Given the description of an element on the screen output the (x, y) to click on. 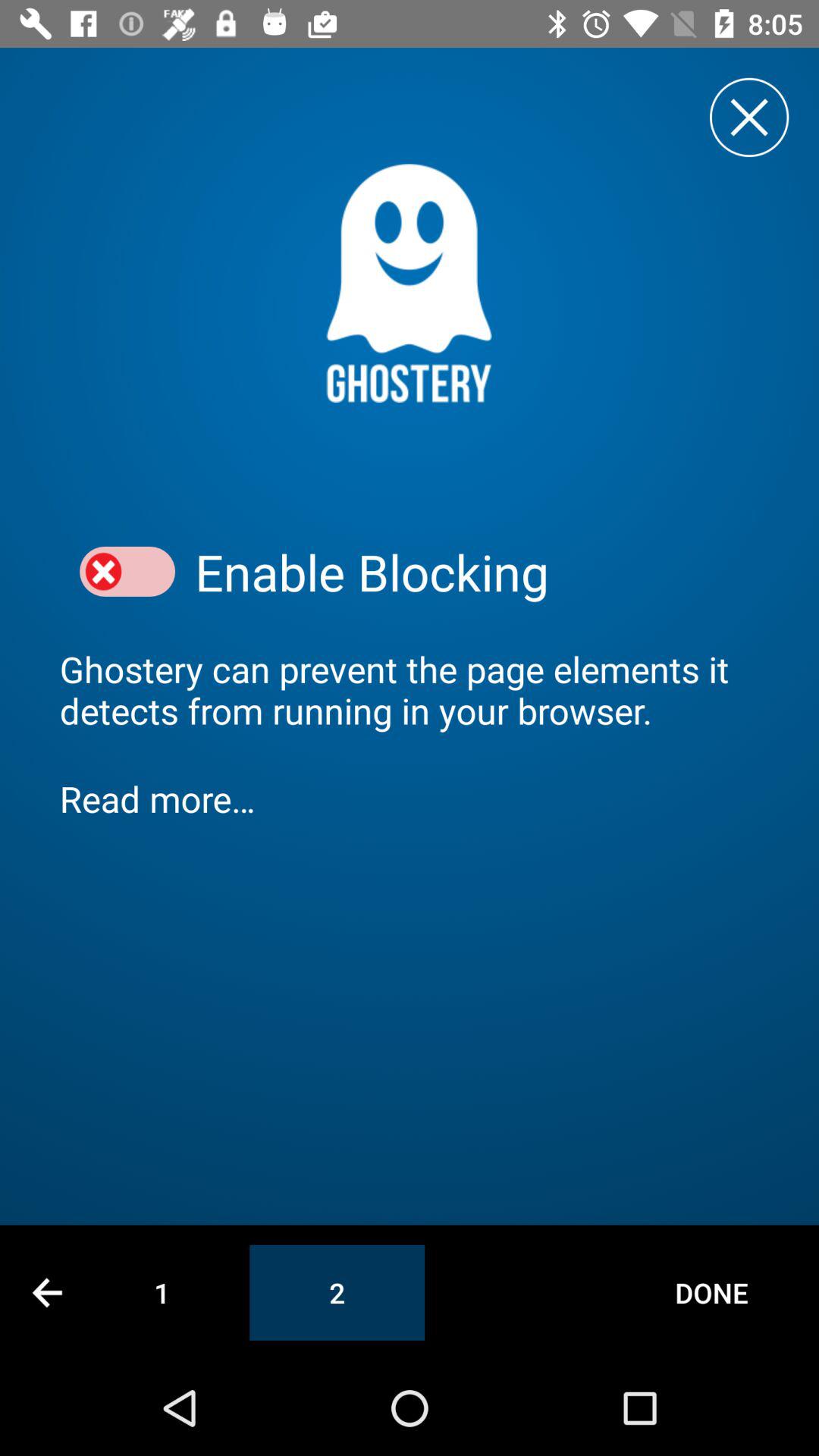
go to previous page (46, 1292)
